Given the description of an element on the screen output the (x, y) to click on. 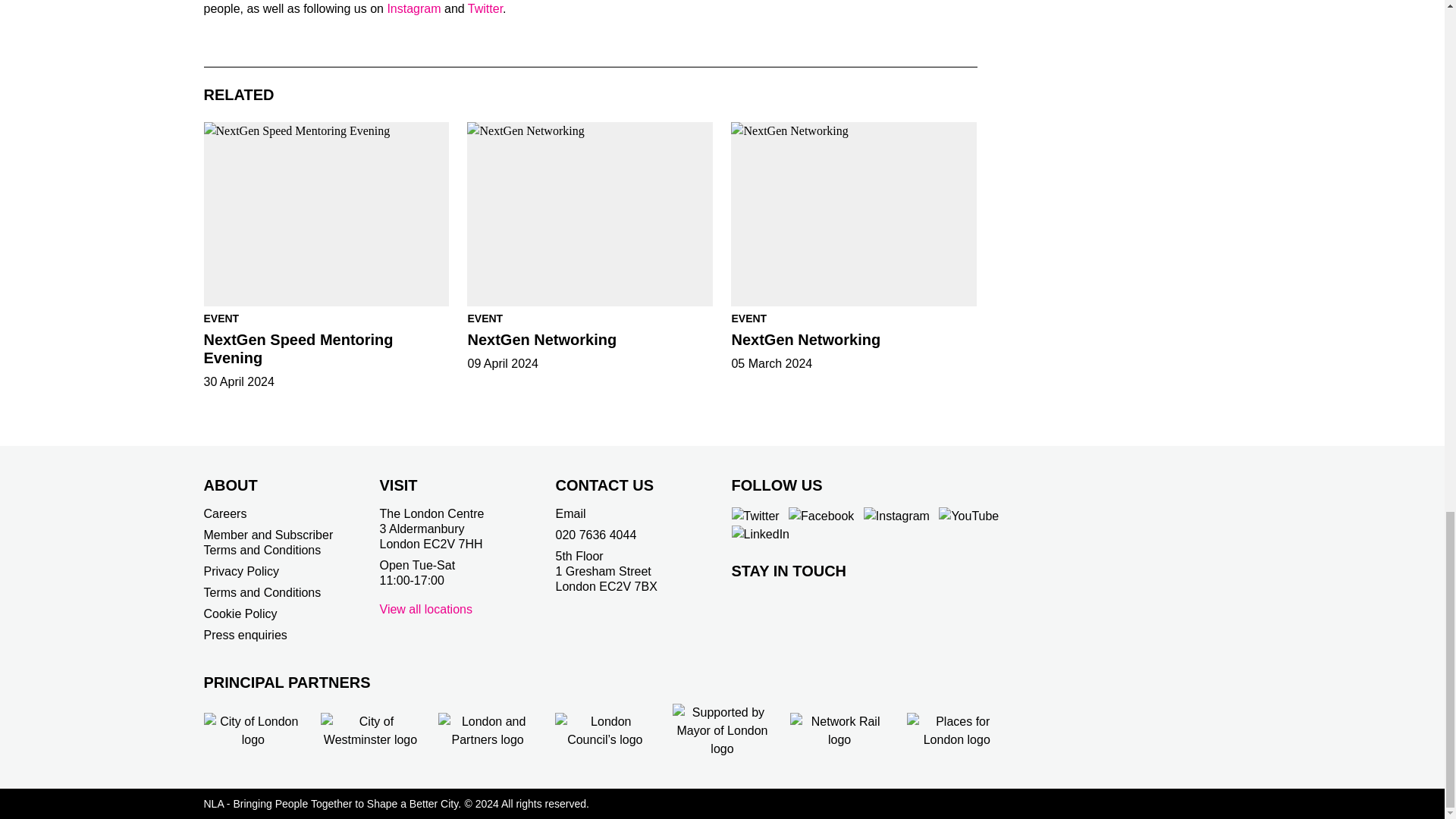
Email the NLA (569, 513)
NextGen Networking (853, 214)
Instagram (414, 8)
Twitter (484, 8)
NextGen Networking (590, 214)
NextGen Speed Mentoring Evening (325, 214)
